Given the description of an element on the screen output the (x, y) to click on. 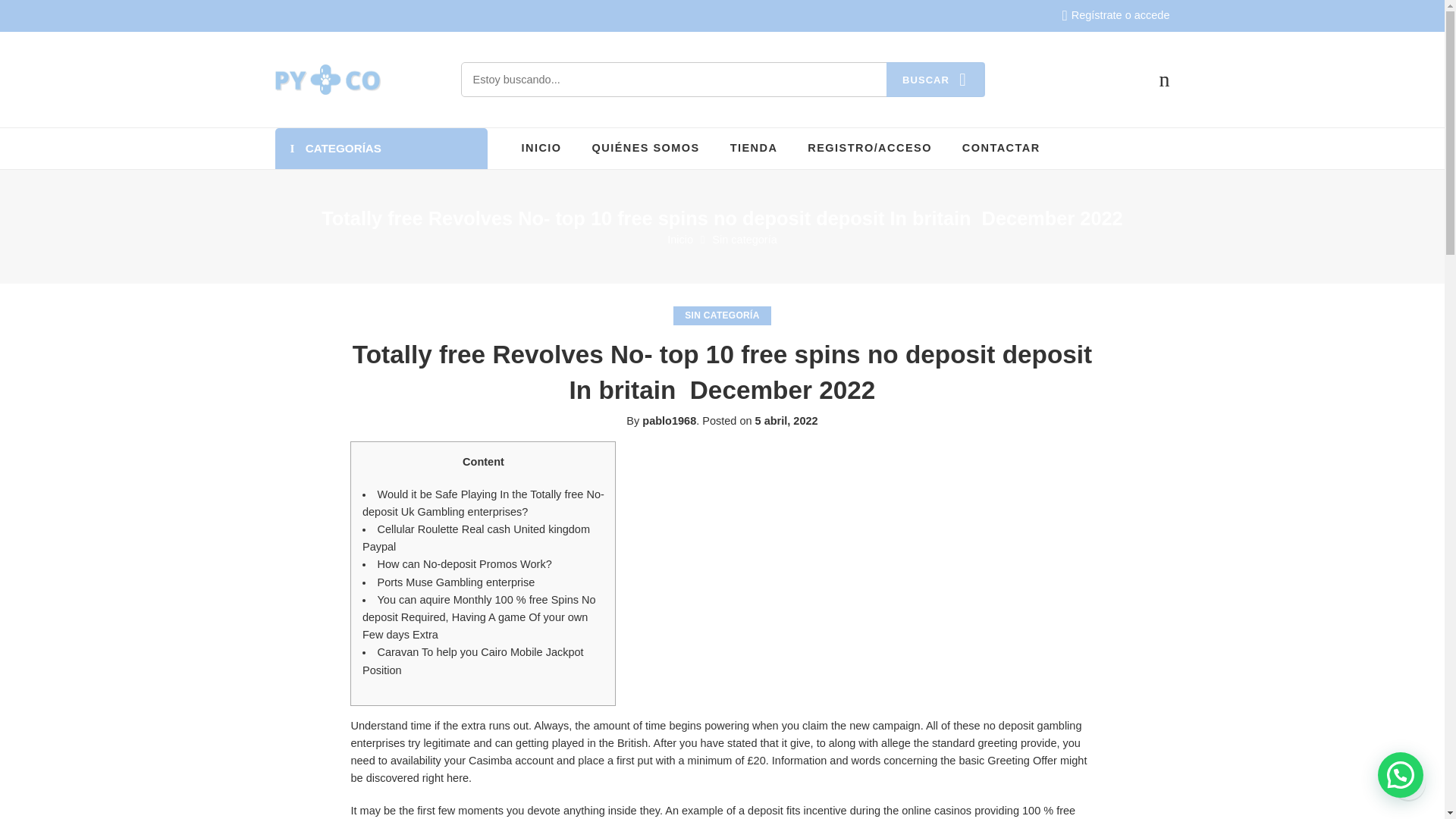
BUSCAR (934, 79)
